Given the description of an element on the screen output the (x, y) to click on. 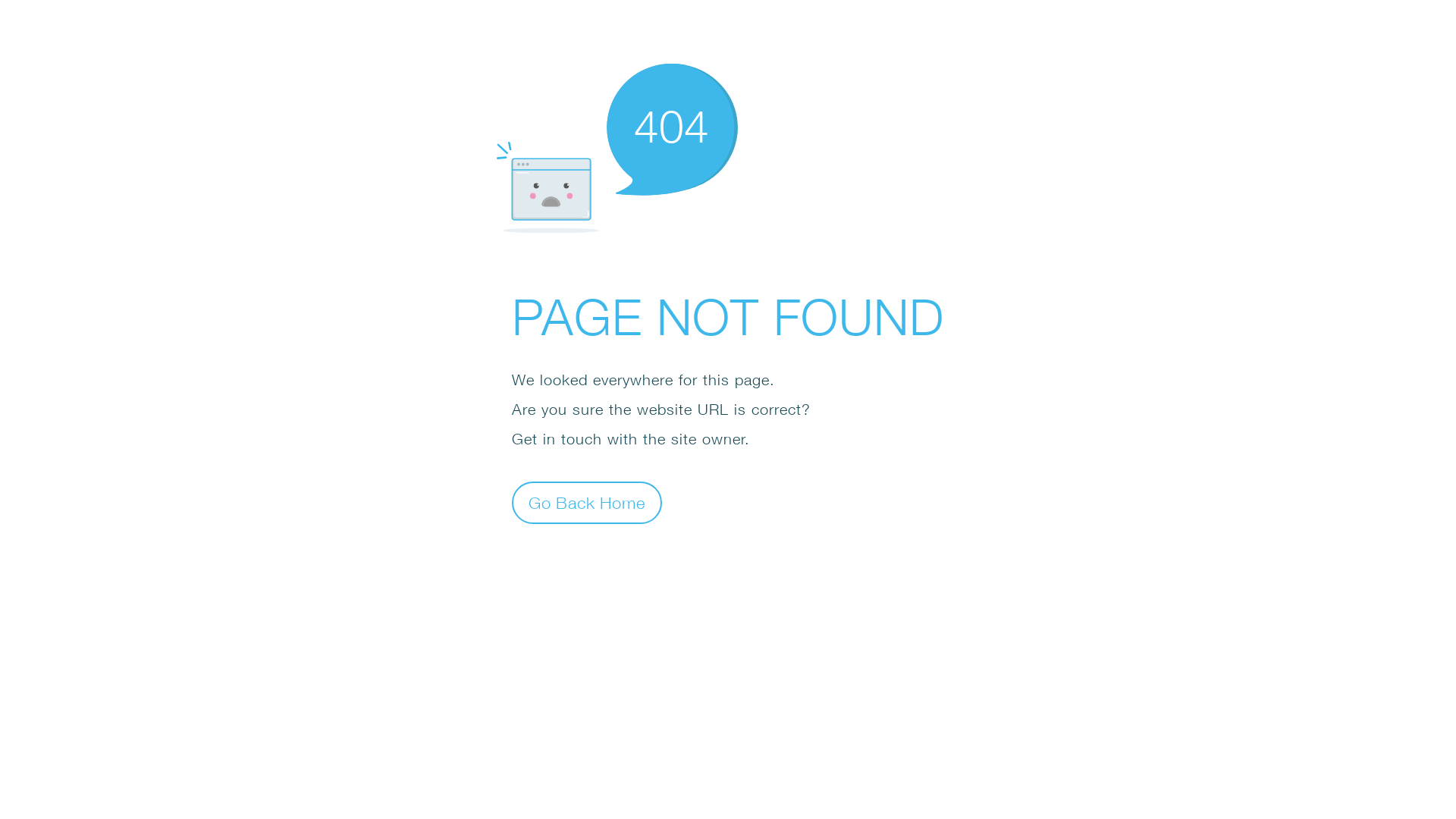
Go Back Home Element type: text (586, 502)
